Given the description of an element on the screen output the (x, y) to click on. 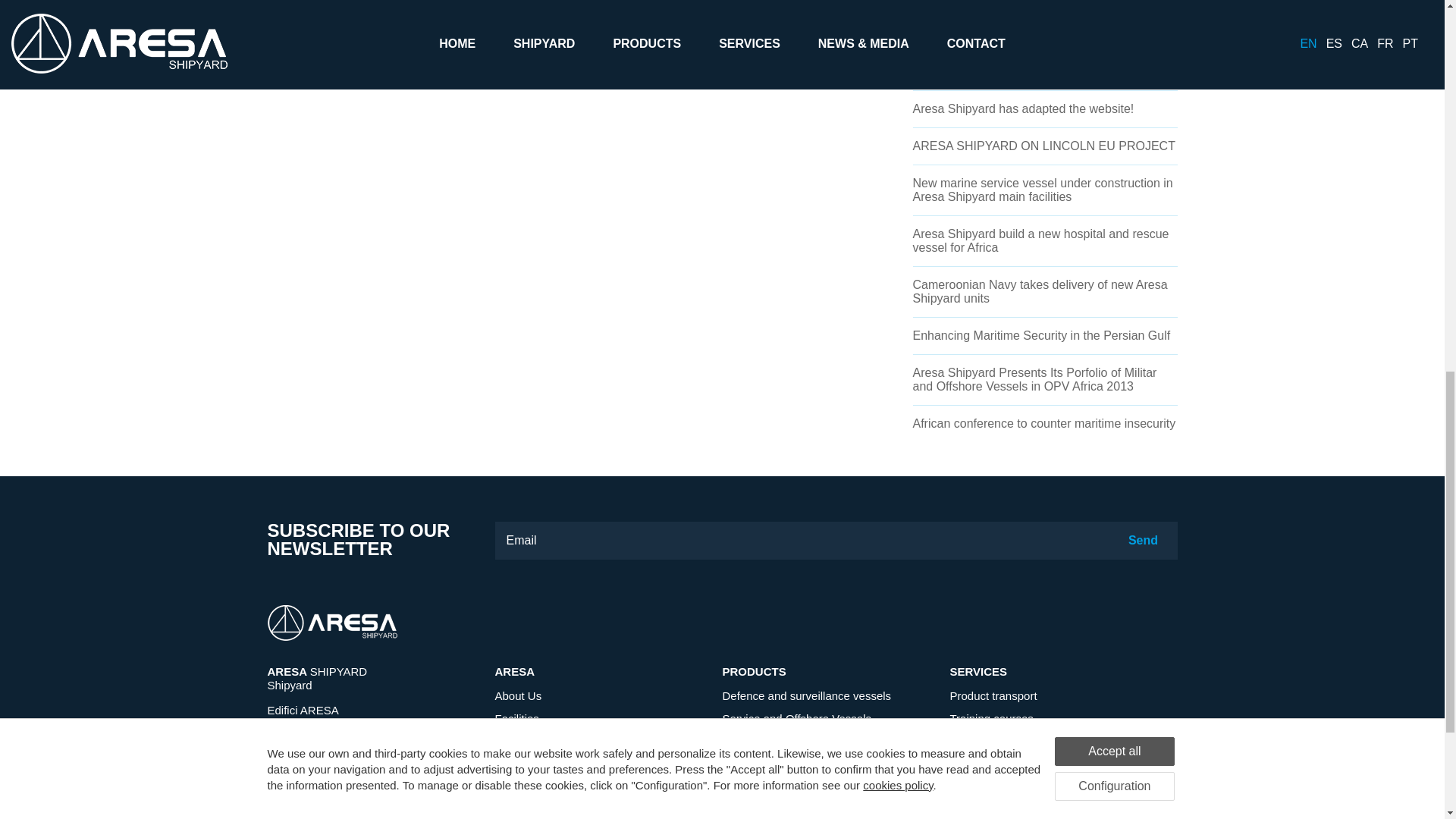
Aresa Shipyard presents the new Aresa 470 Black Bird RFB! (1031, 64)
Send (1142, 540)
ARESA SHIPYARD ON LINCOLN EU PROJECT  (1043, 145)
Aresa Shipyard has adapted the website!  (1023, 108)
